Given the description of an element on the screen output the (x, y) to click on. 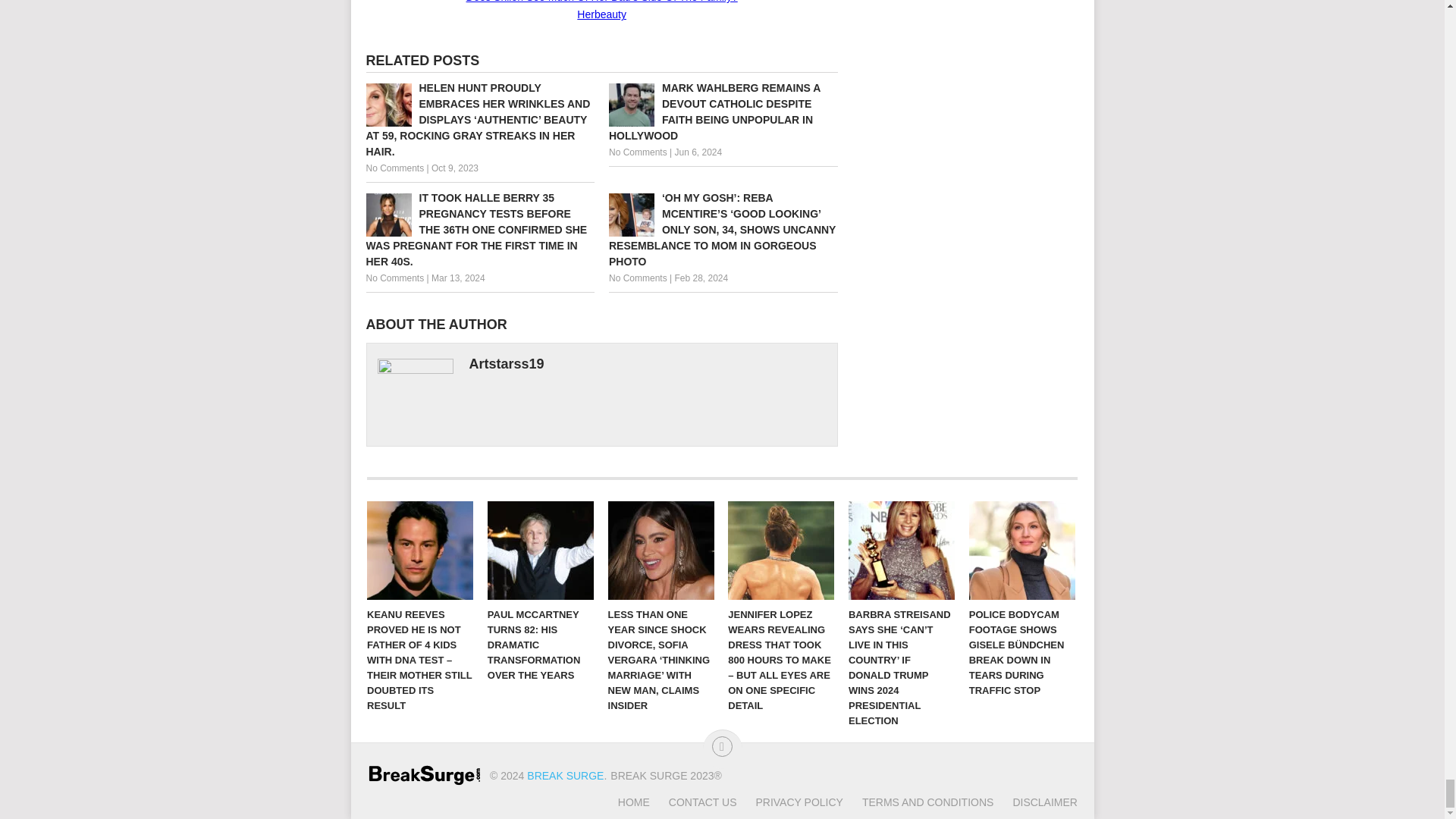
BREAK SURGE (565, 775)
TERMS AND CONDITIONS (917, 802)
No Comments (637, 152)
CONTACT US (692, 802)
No Comments (394, 167)
No Comments (394, 277)
PRIVACY POLICY (789, 802)
HOME (633, 802)
No Comments (637, 277)
